Given the description of an element on the screen output the (x, y) to click on. 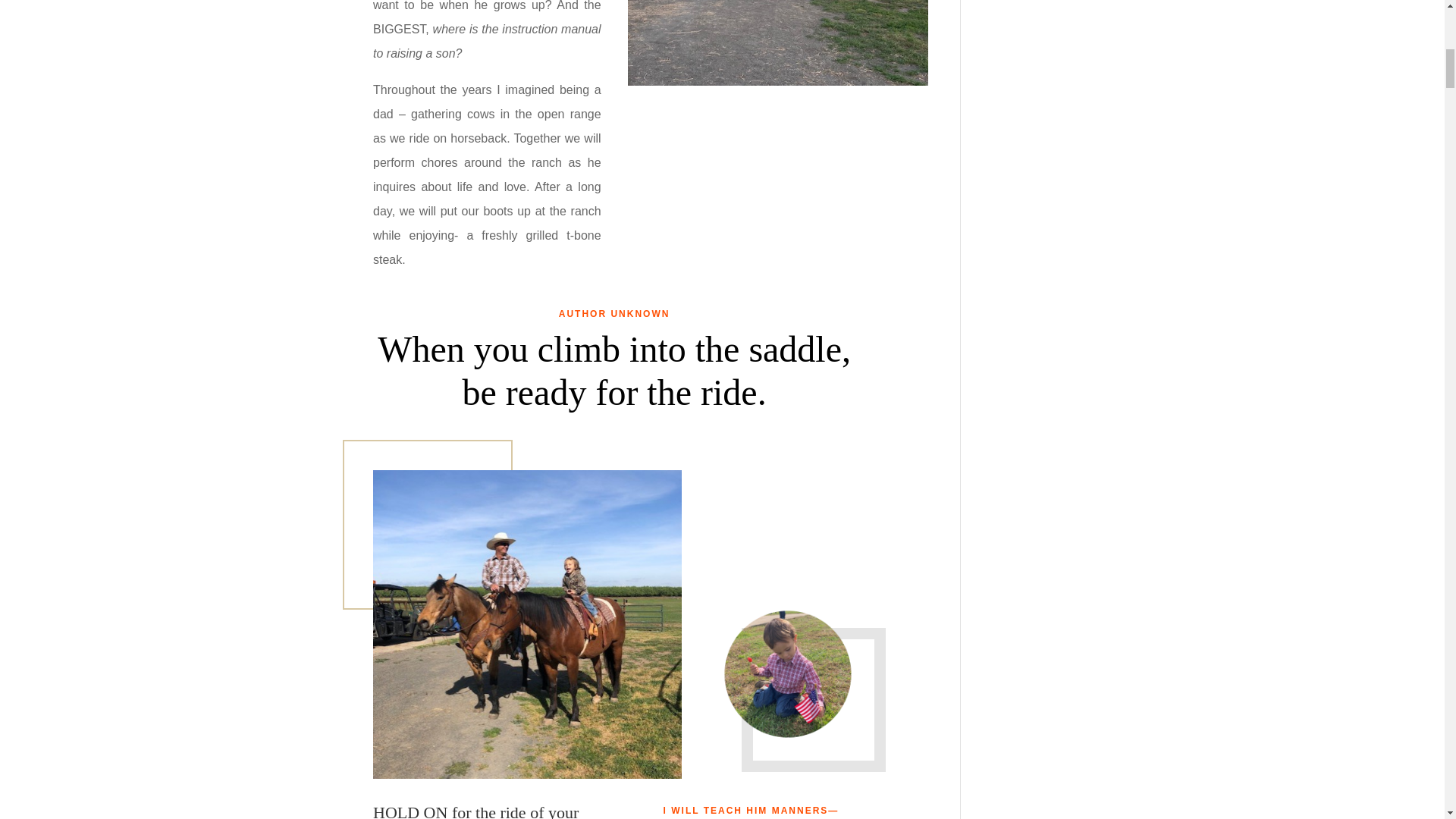
Wiley and Adam Diaz (526, 624)
Wiley Diaz  (788, 674)
Adam and Wiley with Horse (777, 42)
